Given the description of an element on the screen output the (x, y) to click on. 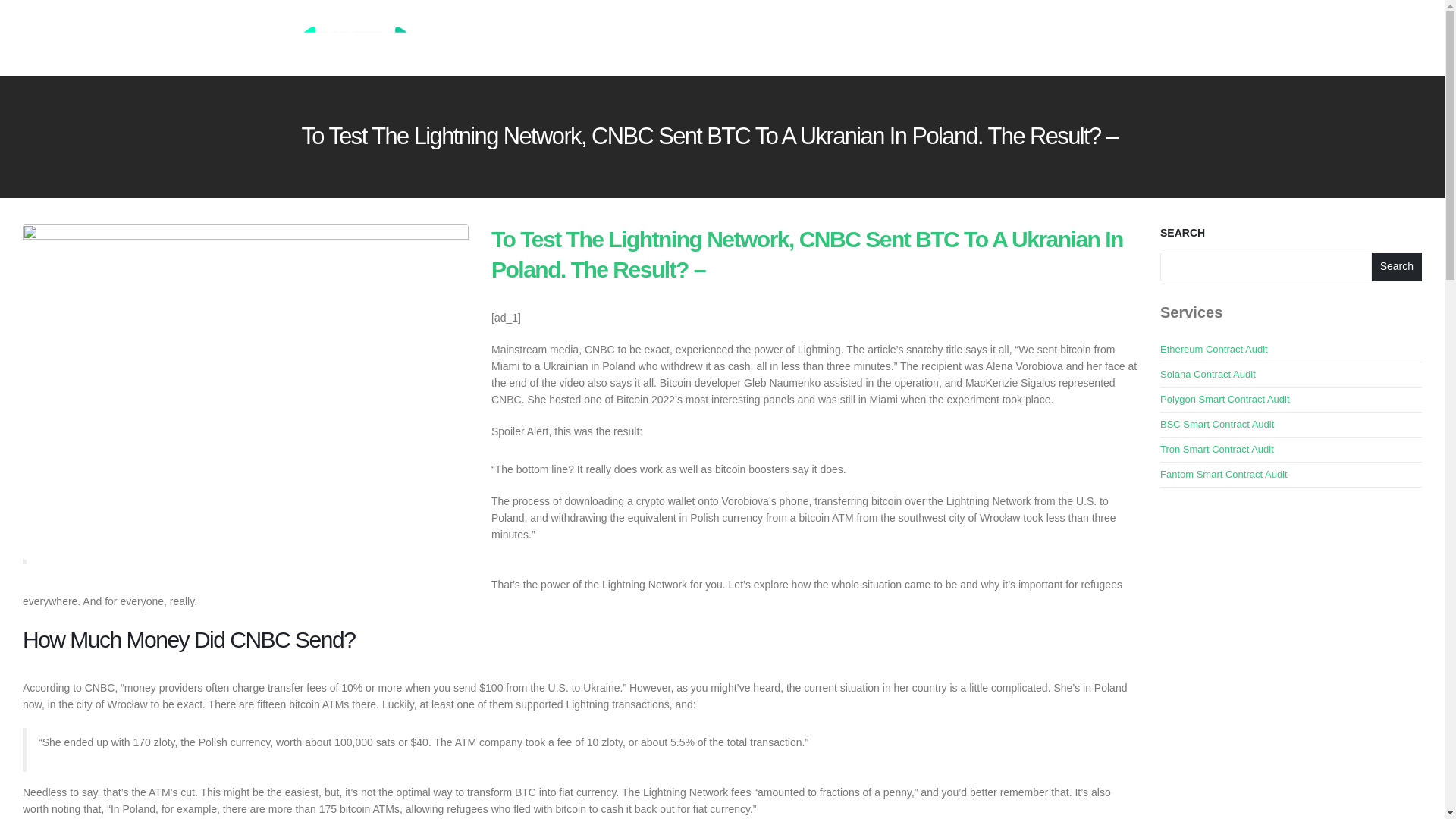
LAUNCH APP (1104, 37)
Fantom Smart Contract Audit (1223, 473)
Solana Contract Audit (1207, 374)
Search (1396, 266)
SERVICES (971, 37)
CONTACT (1036, 37)
Tron Smart Contract Audit (1217, 449)
BSC Smart Contract Audit (1217, 423)
Ethereum Contract Audit (1214, 348)
BLOCKCHAIN PROTOCOL AUDIT (858, 37)
Polygon Smart Contract Audit (1225, 398)
HOME (755, 37)
Codeum - Smart Contract Auditing and DApp Security (355, 37)
